Given the description of an element on the screen output the (x, y) to click on. 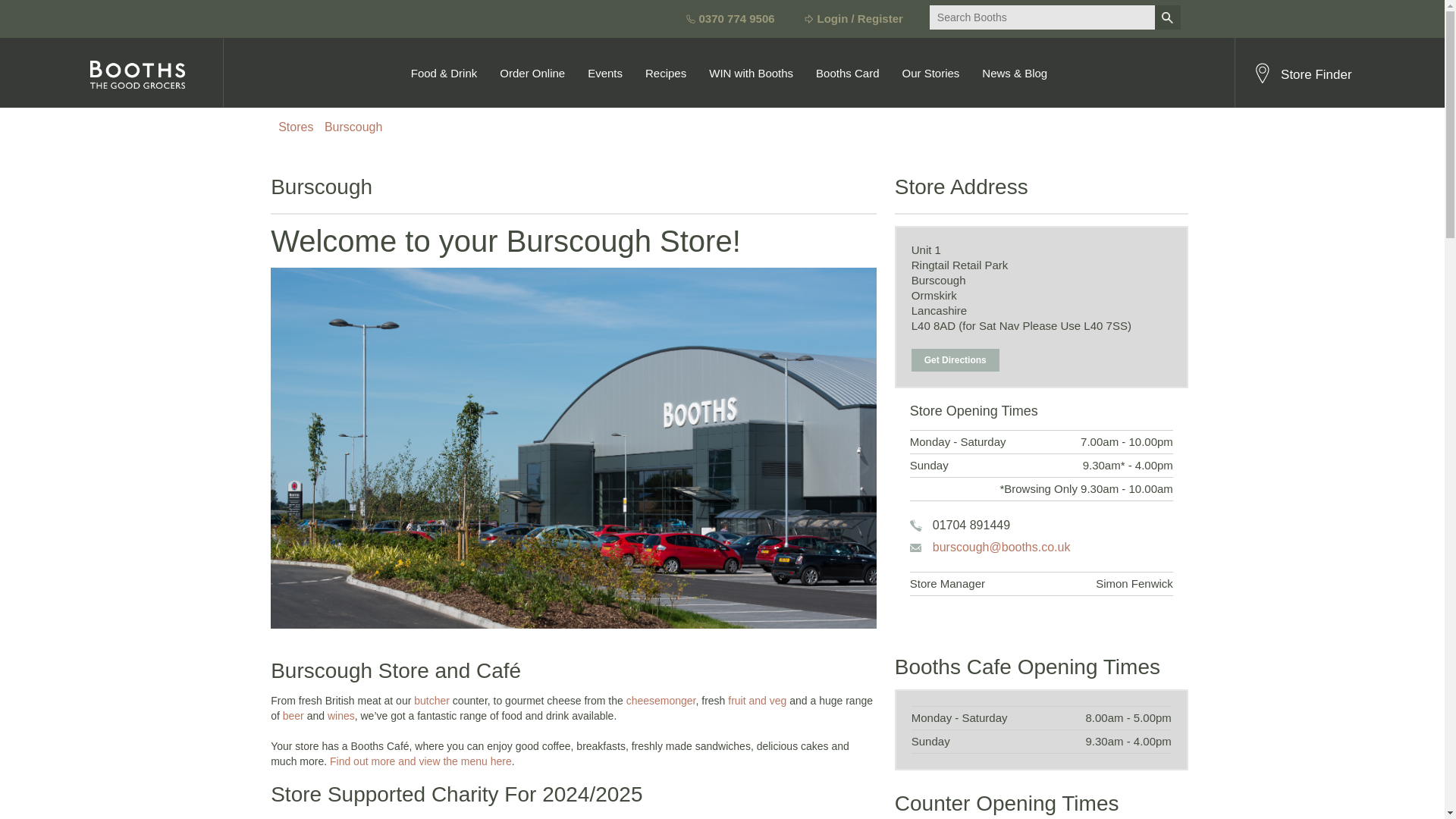
Return Home (155, 72)
Order Online (531, 73)
Booths Card (847, 73)
Our Stories (930, 73)
WIN with Booths (751, 73)
Stores (295, 126)
Recipes (665, 73)
